Given the description of an element on the screen output the (x, y) to click on. 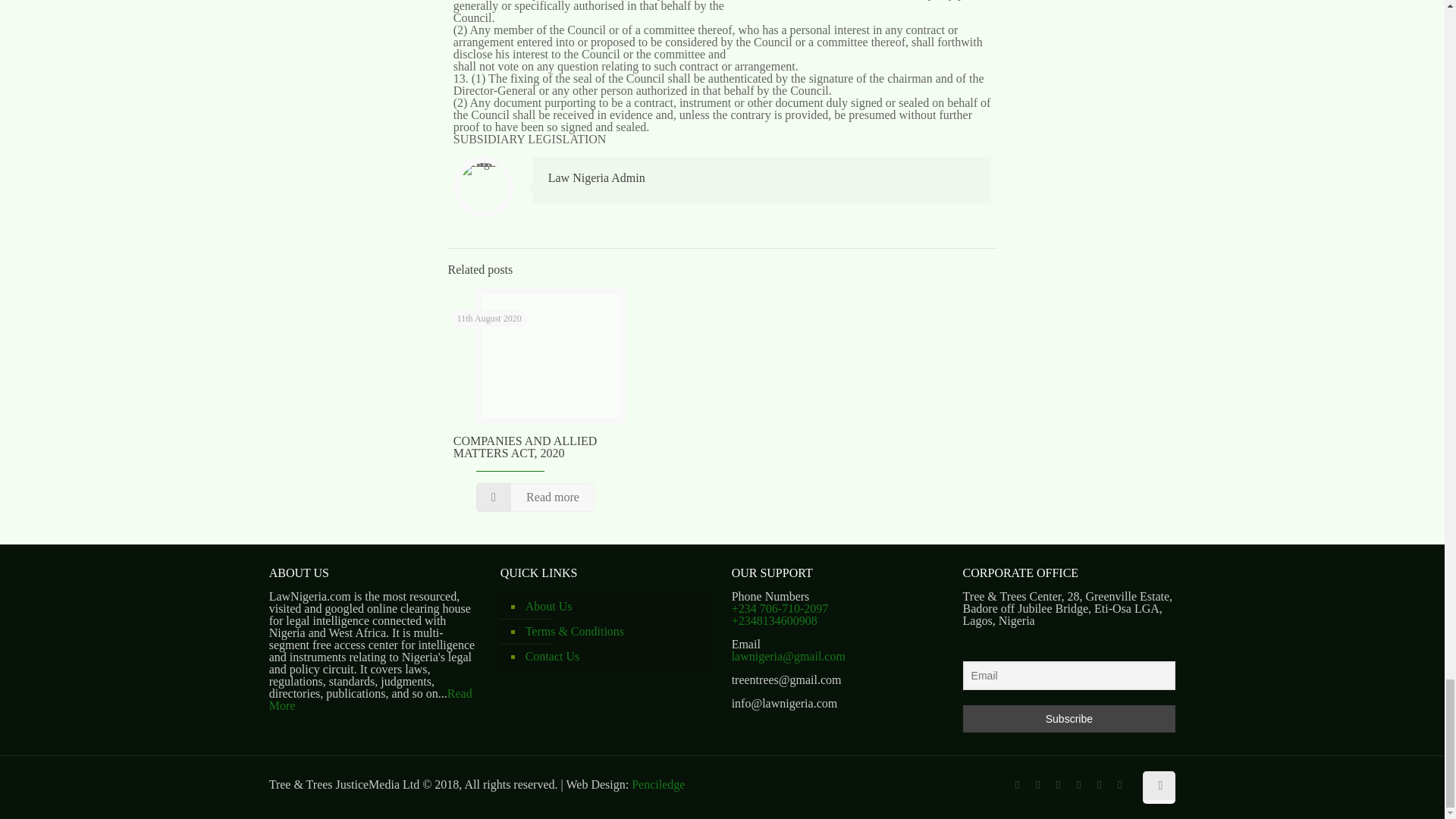
Facebook (1017, 784)
LinkedIn (1098, 784)
YouTube (1078, 784)
Subscribe (1069, 718)
Twitter (1057, 784)
Instagram (1119, 784)
